Given the description of an element on the screen output the (x, y) to click on. 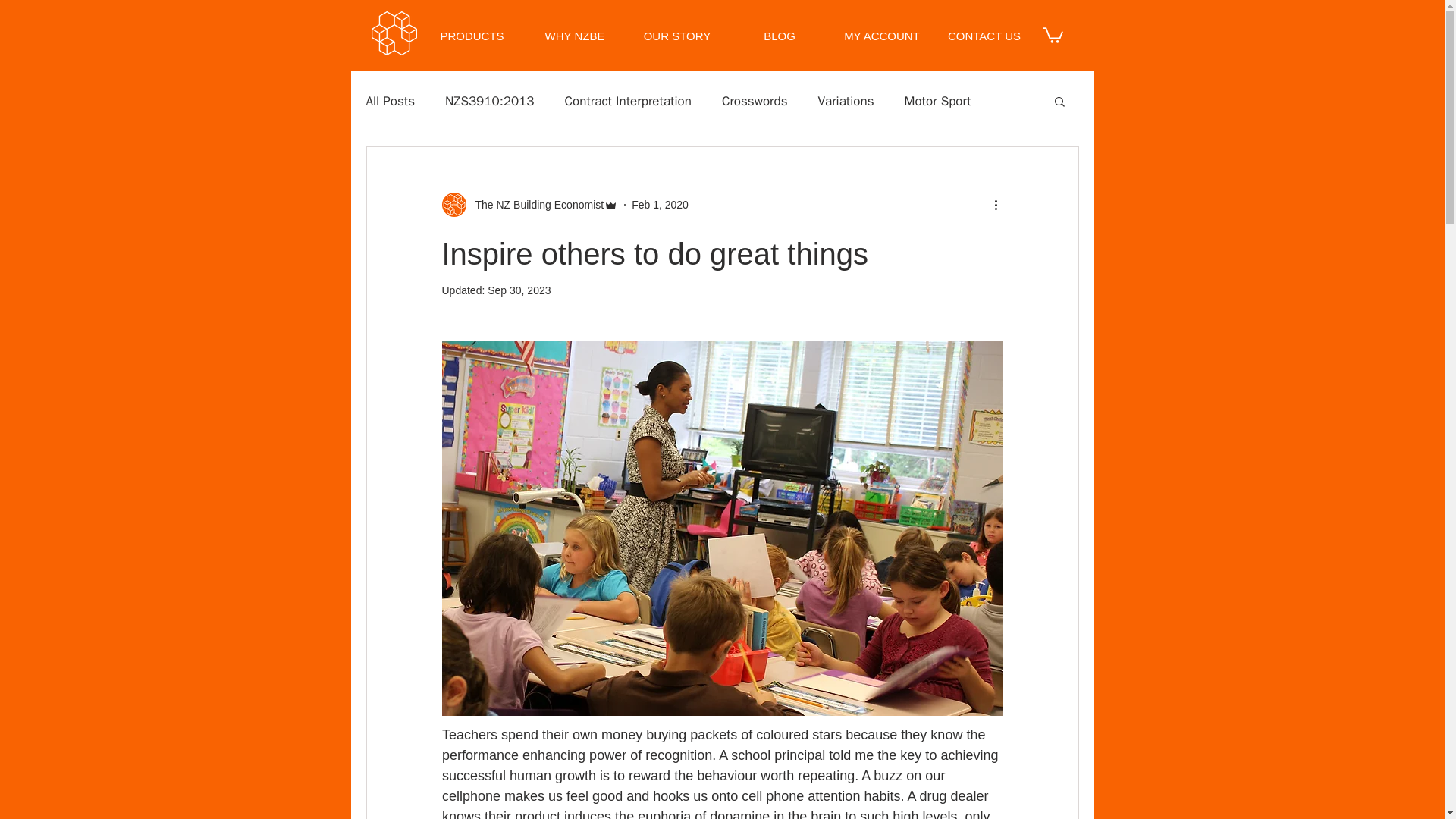
NZS3910:2013 (489, 100)
WHY NZBE (574, 36)
Sep 30, 2023 (518, 290)
The NZ Building Economist (534, 204)
OUR STORY (677, 36)
Motor Sport (937, 100)
BLOG (778, 36)
Variations (844, 100)
Crosswords (754, 100)
All Posts (389, 100)
MY ACCOUNT (882, 36)
PRODUCTS (471, 36)
CONTACT US (984, 36)
Feb 1, 2020 (659, 204)
Contract Interpretation (627, 100)
